Given the description of an element on the screen output the (x, y) to click on. 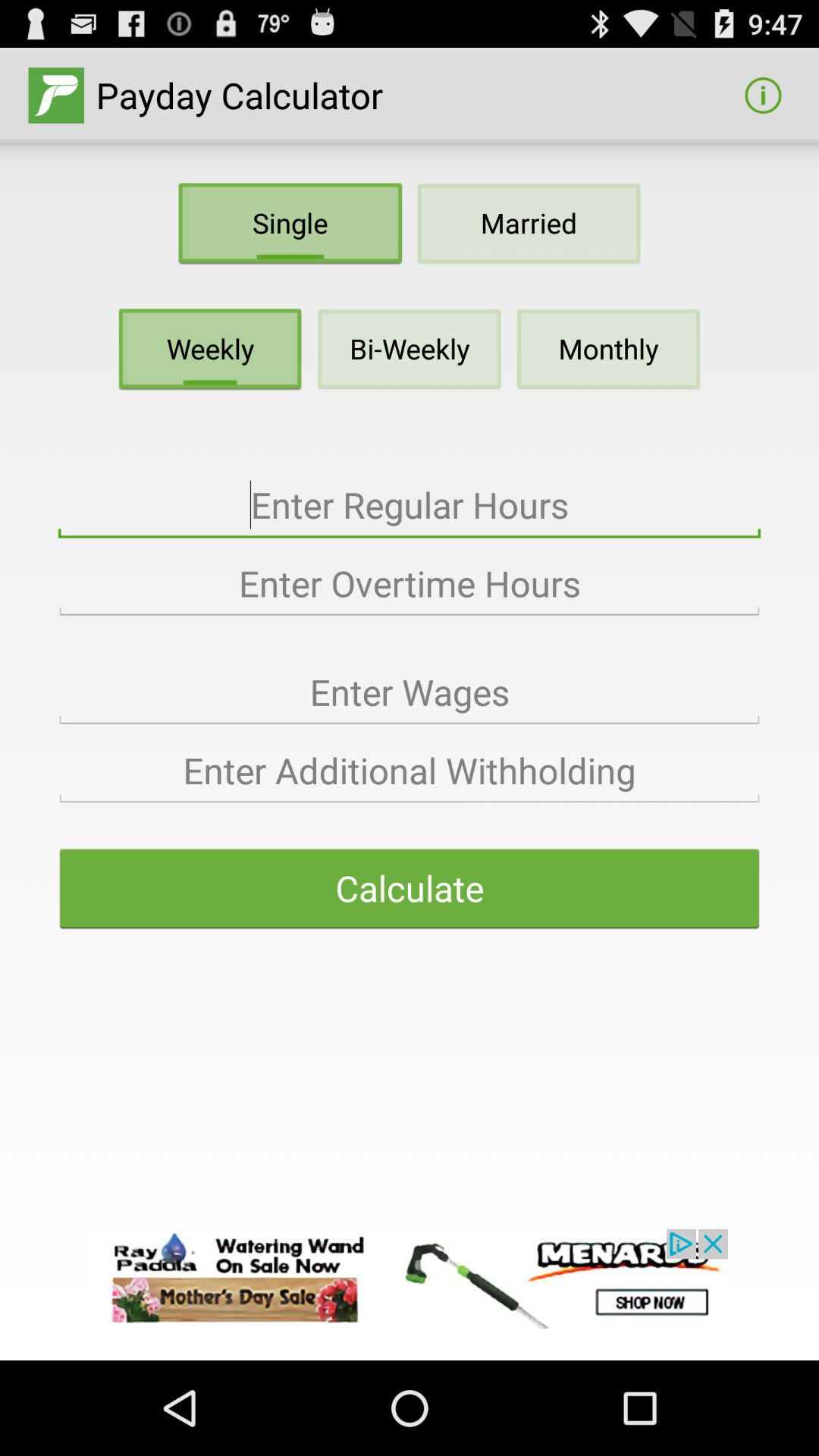
open advertisement (409, 1278)
